Given the description of an element on the screen output the (x, y) to click on. 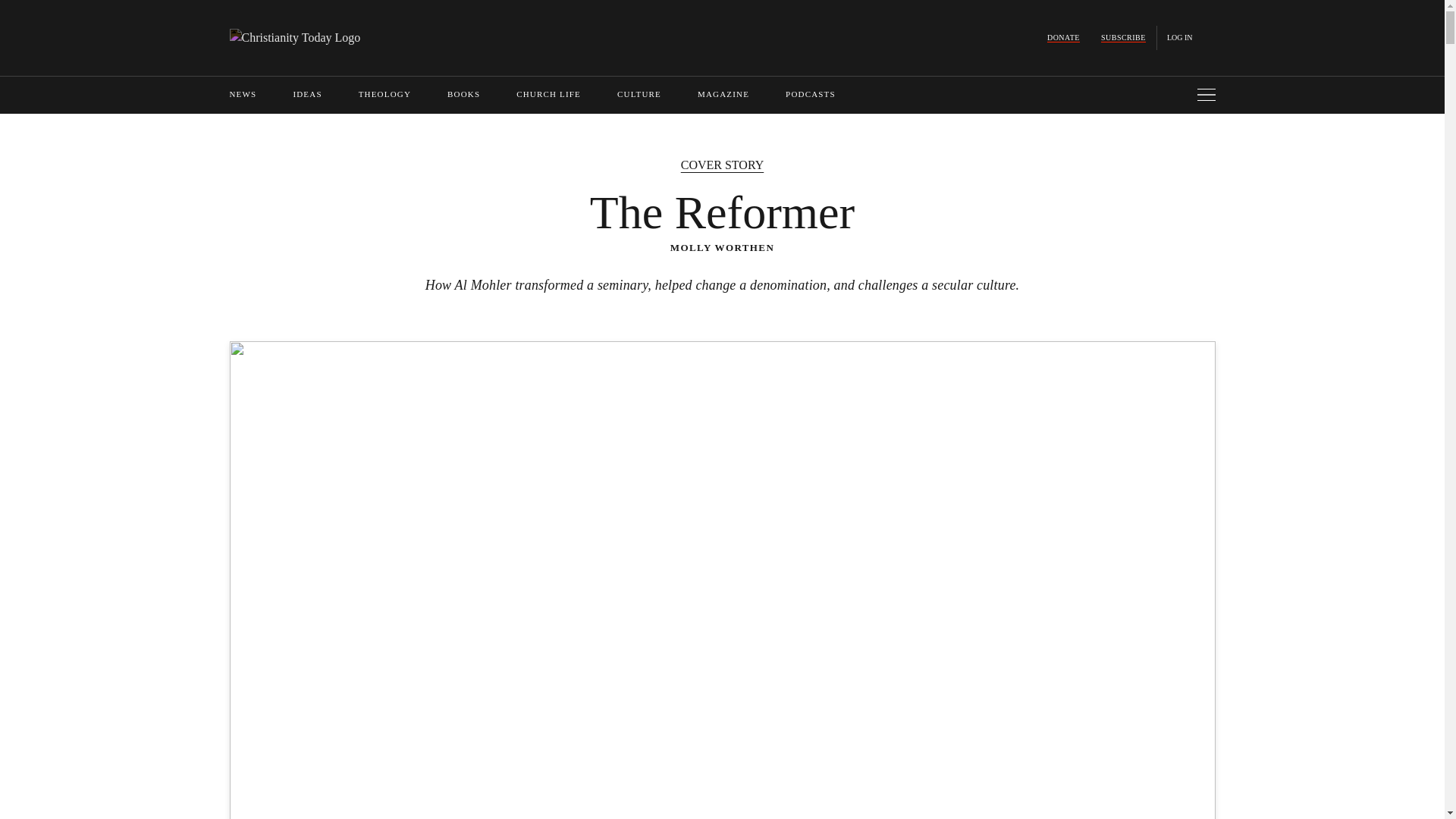
NEWS (242, 93)
BOOKS (463, 93)
MAGAZINE (723, 93)
CULTURE (639, 93)
CHURCH LIFE (548, 93)
THEOLOGY (384, 93)
IDEAS (306, 93)
LOG IN (1179, 37)
DONATE (1063, 37)
SUBSCRIBE (1122, 37)
